Given the description of an element on the screen output the (x, y) to click on. 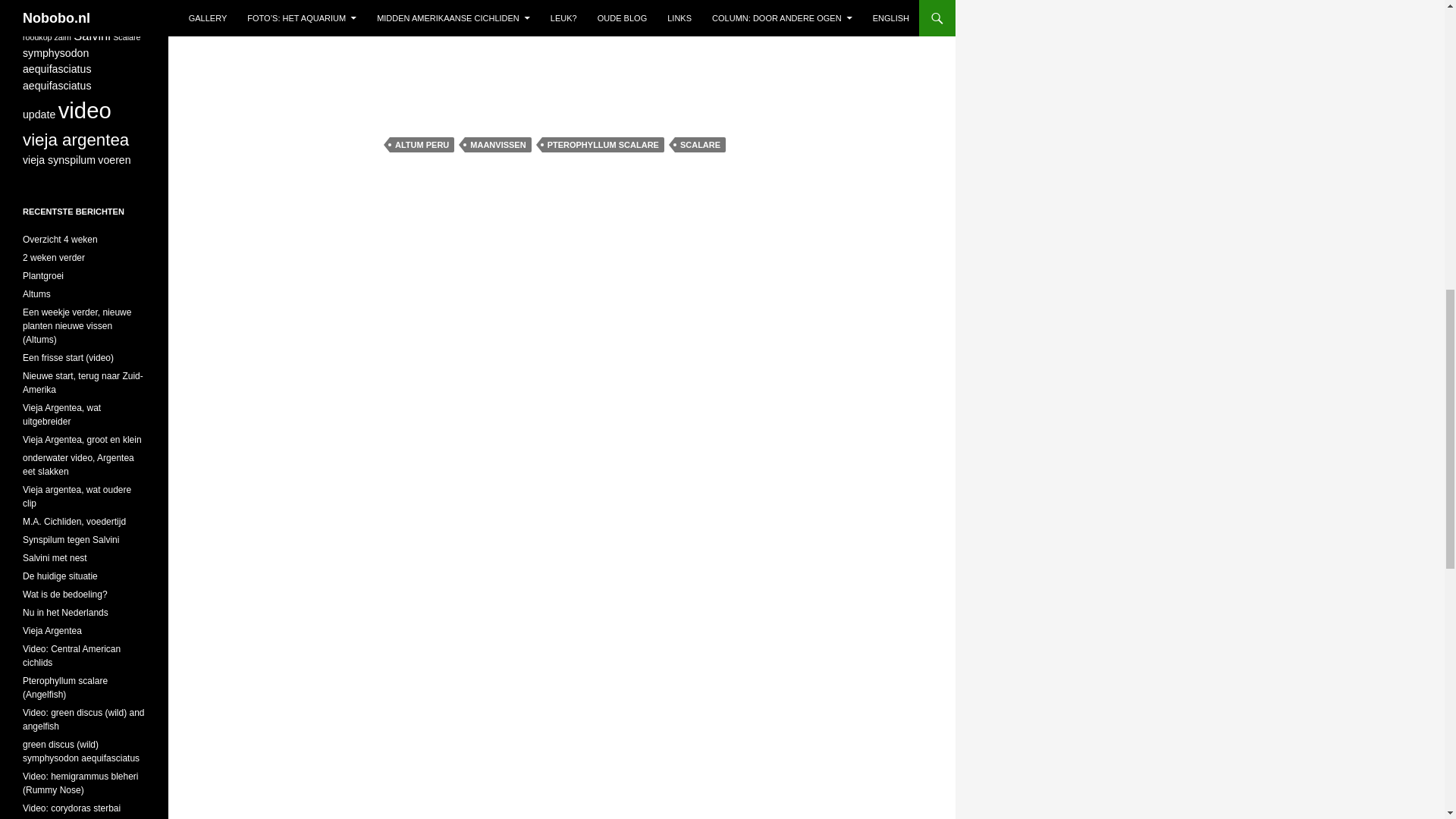
SCALARE (700, 144)
PTEROPHYLLUM SCALARE (602, 144)
ALTUM PERU (422, 144)
DSCF2747 (614, 49)
MAANVISSEN (497, 144)
maantjekleinert (367, 33)
